Given the description of an element on the screen output the (x, y) to click on. 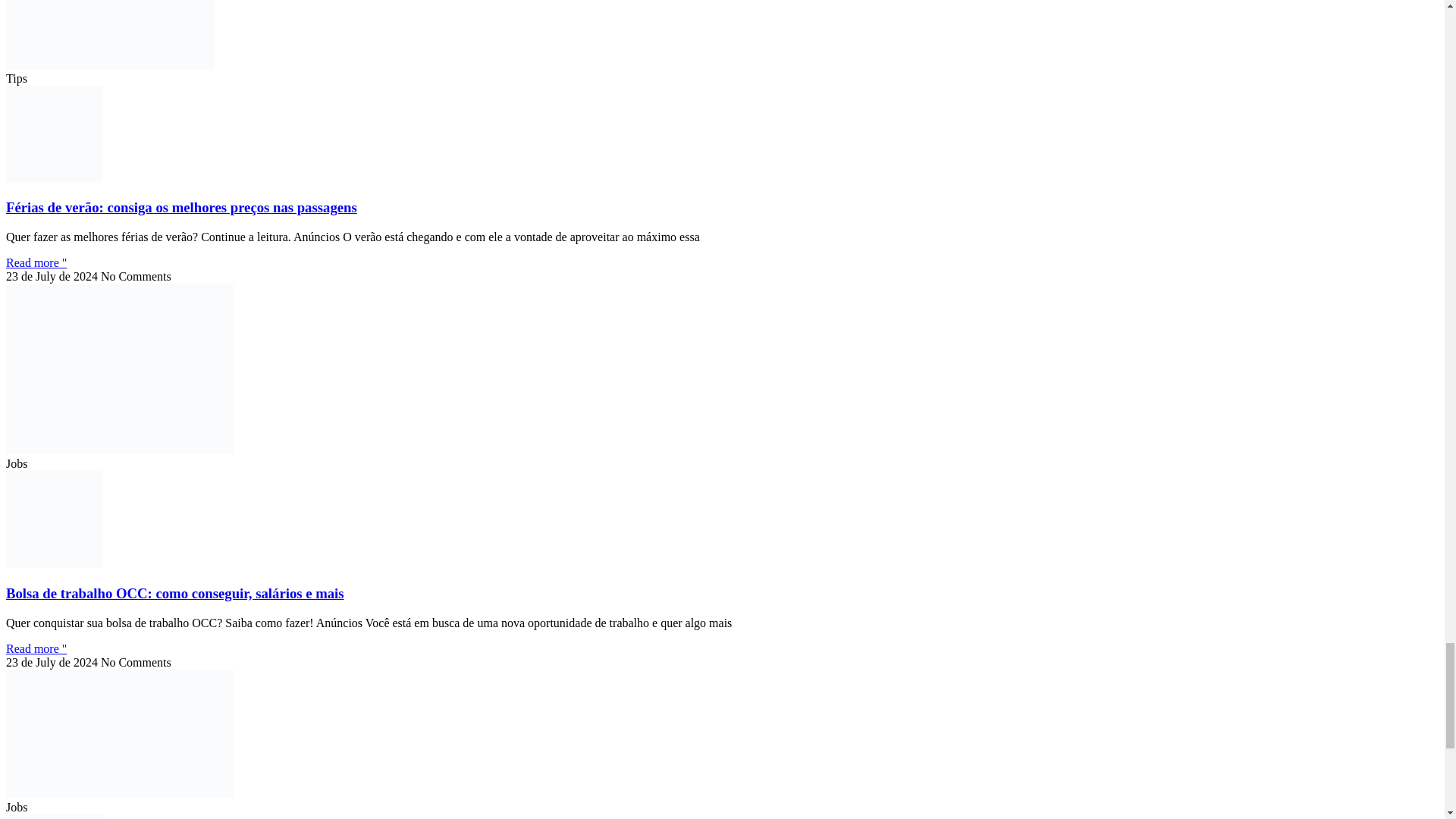
Read more " (35, 262)
Read more " (35, 647)
